Given the description of an element on the screen output the (x, y) to click on. 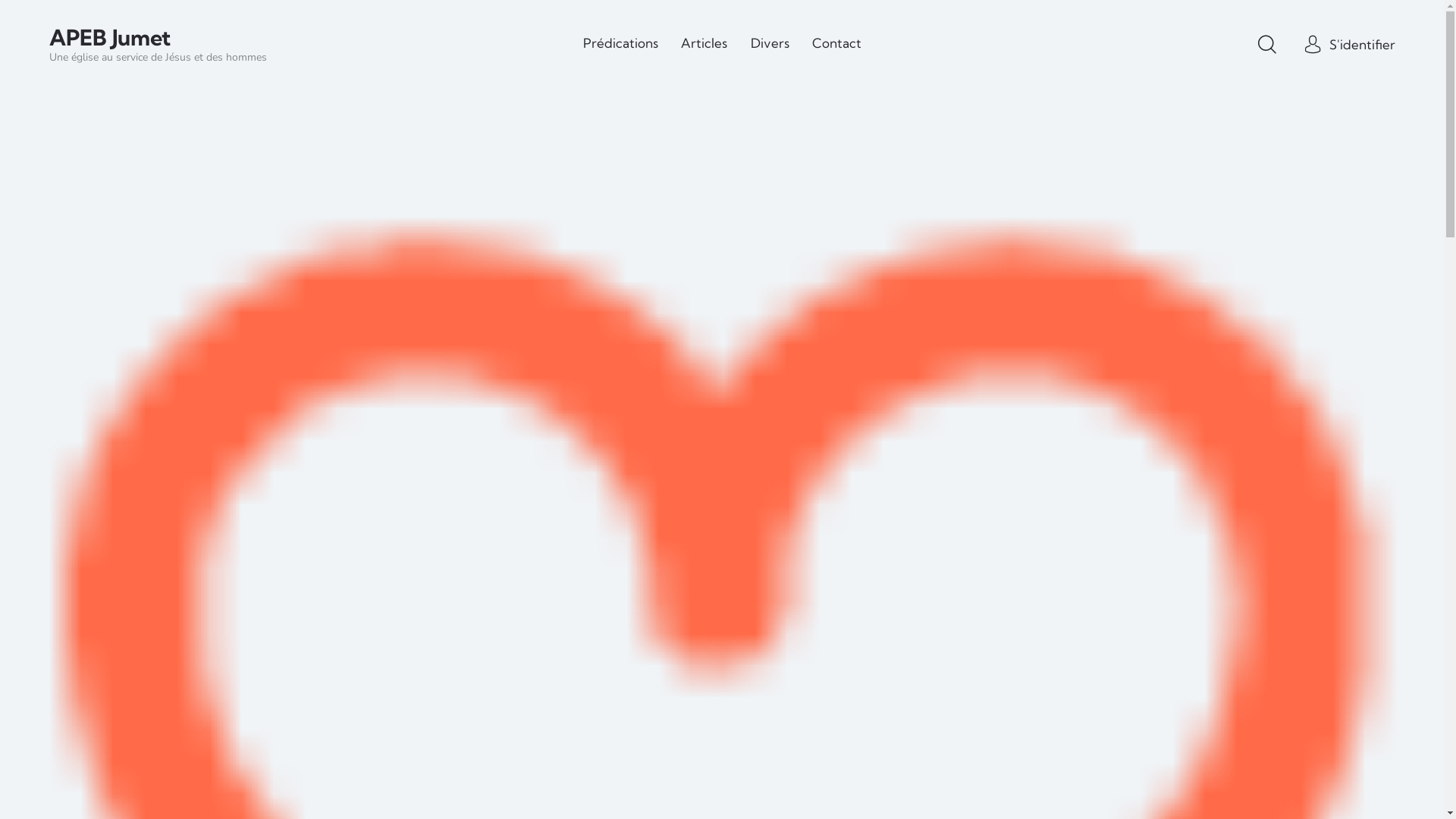
Articles Element type: text (704, 43)
Divers Element type: text (769, 43)
S'identifier Element type: text (1350, 44)
Contact Element type: text (836, 43)
